Given the description of an element on the screen output the (x, y) to click on. 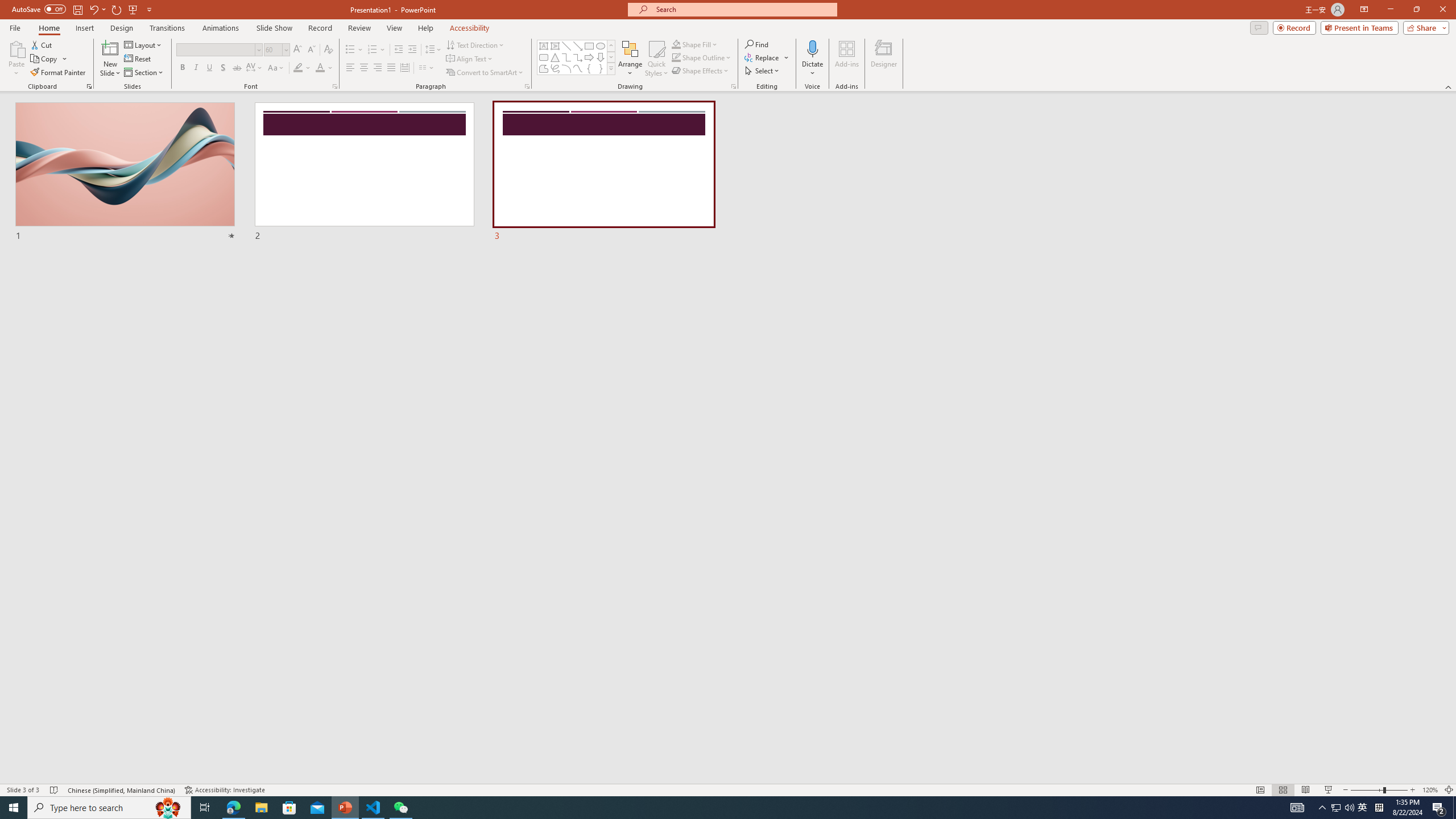
Format Painter (58, 72)
